Given the description of an element on the screen output the (x, y) to click on. 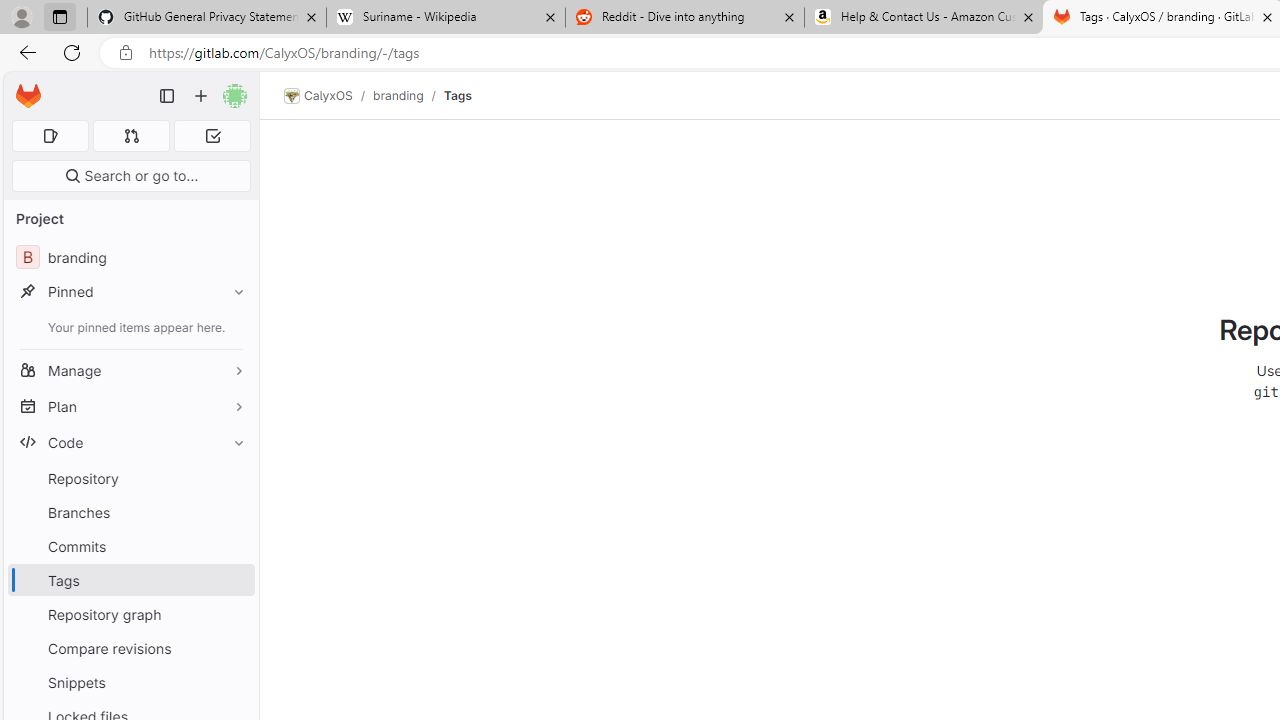
Branches (130, 512)
GitHub General Privacy Statement - GitHub Docs (207, 17)
CalyxOS (318, 96)
Compare revisions (130, 648)
Homepage (27, 96)
Pin Repository (234, 478)
Commits (130, 546)
Manage (130, 370)
Merge requests 0 (131, 136)
Assigned issues 0 (50, 136)
branding/ (408, 95)
Code (130, 442)
